Given the description of an element on the screen output the (x, y) to click on. 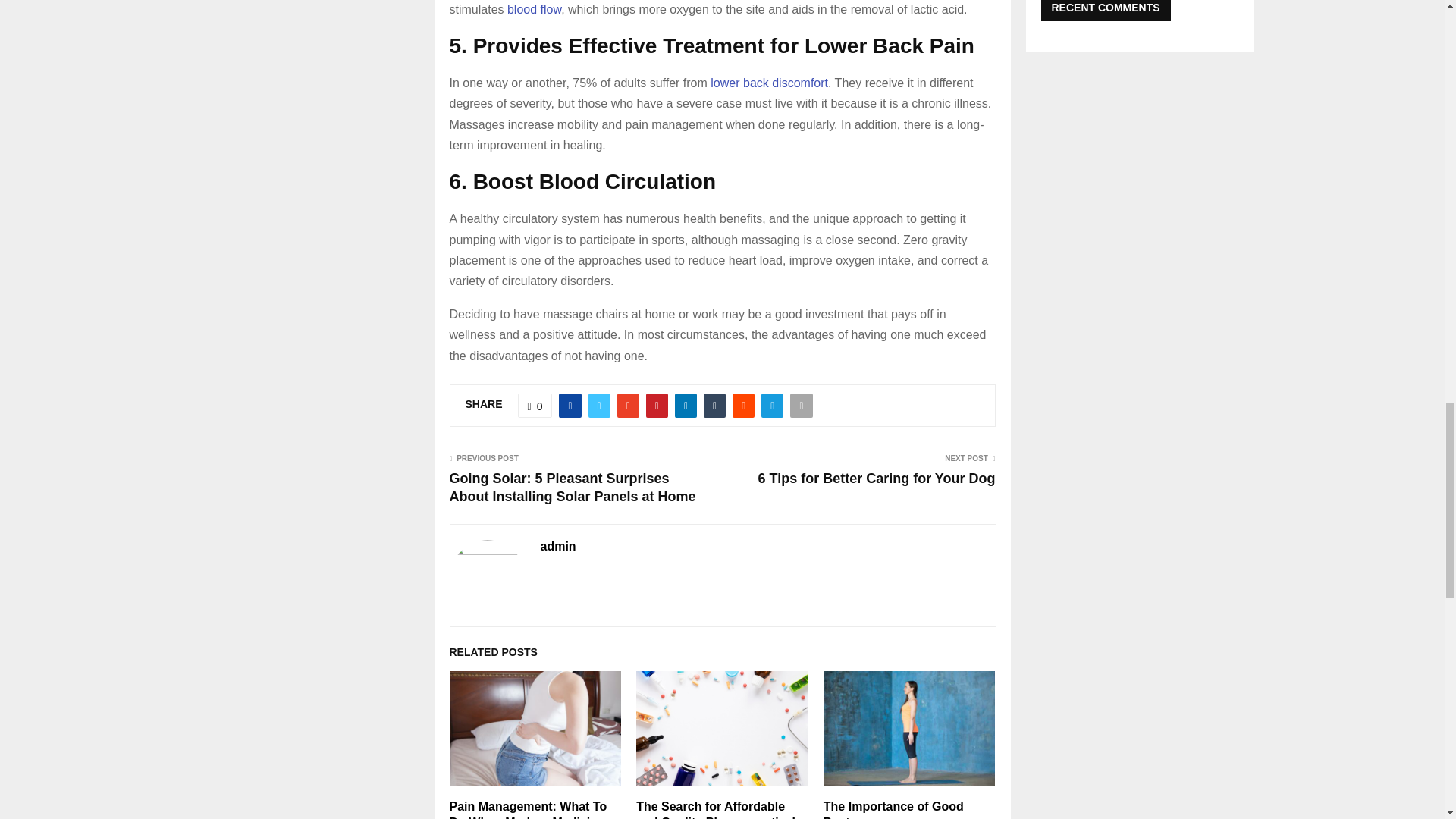
Posts by admin (557, 546)
Like (535, 405)
